Given the description of an element on the screen output the (x, y) to click on. 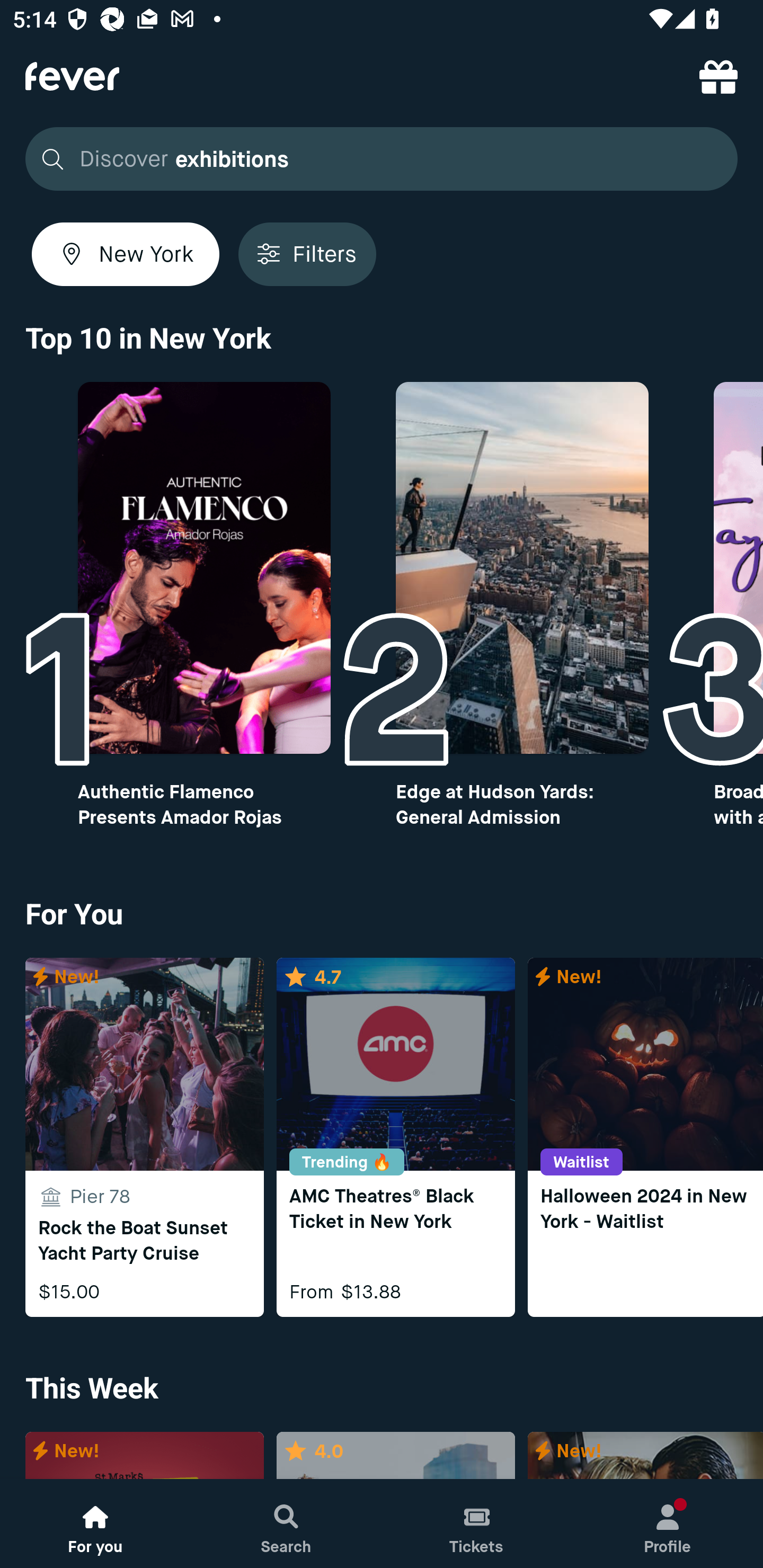
referral (718, 75)
Discover exhibitions (381, 158)
Discover exhibitions (376, 158)
New York (125, 253)
Filters (307, 253)
Top10 image (203, 568)
Top10 image (521, 568)
Search (285, 1523)
Tickets (476, 1523)
Profile, New notification Profile (667, 1523)
